Given the description of an element on the screen output the (x, y) to click on. 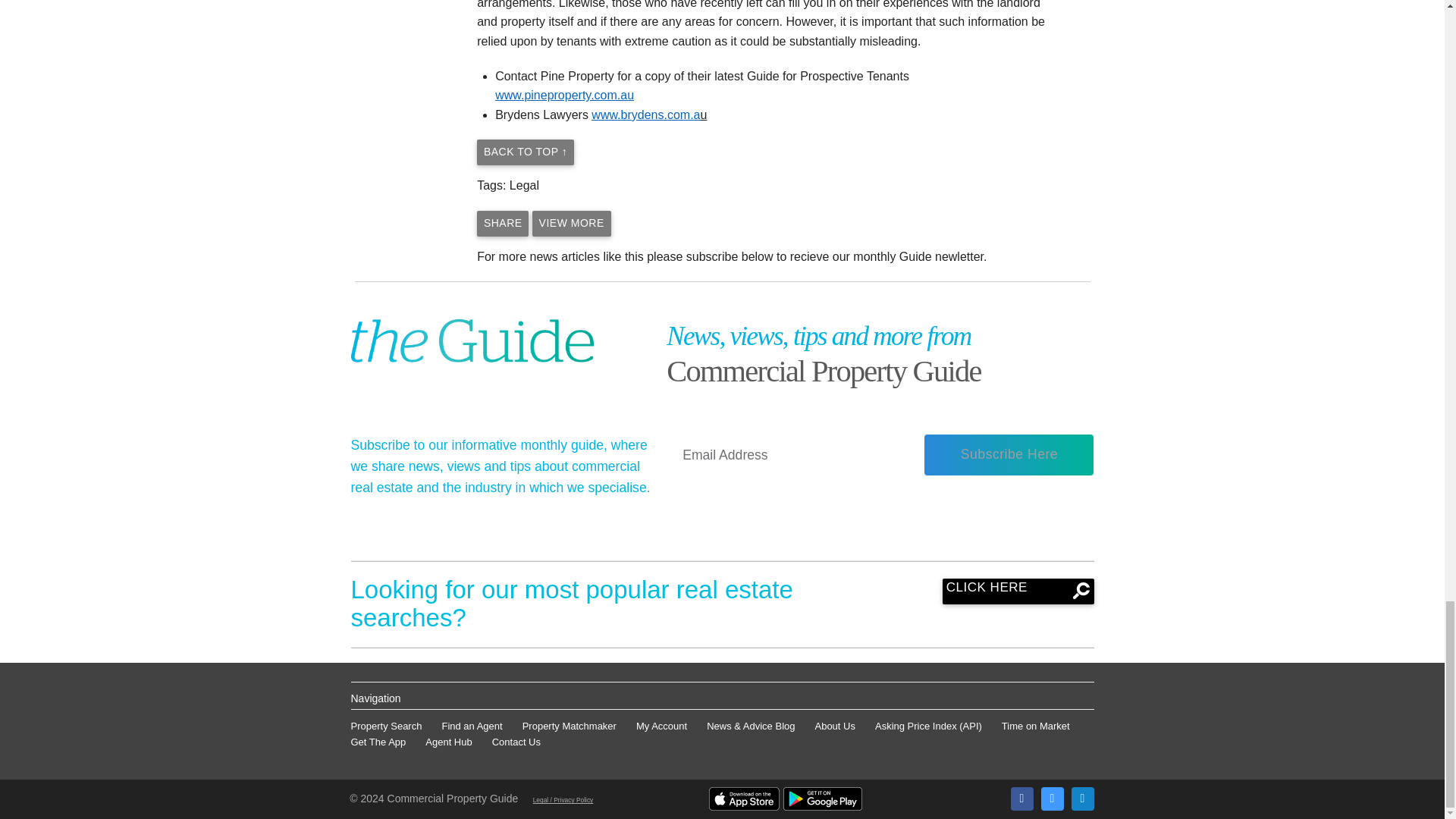
Connect with us on LinkedIn (1081, 798)
Follow us on Twitter (1051, 798)
CLICK HERE (1017, 591)
Go back to top (525, 152)
SHARE (502, 223)
Like us on Facebook (1021, 798)
VIEW MORE (571, 223)
www.brydens.com.a (645, 114)
Subscribe Here (1008, 454)
www.pineproperty.com.au (564, 94)
